Given the description of an element on the screen output the (x, y) to click on. 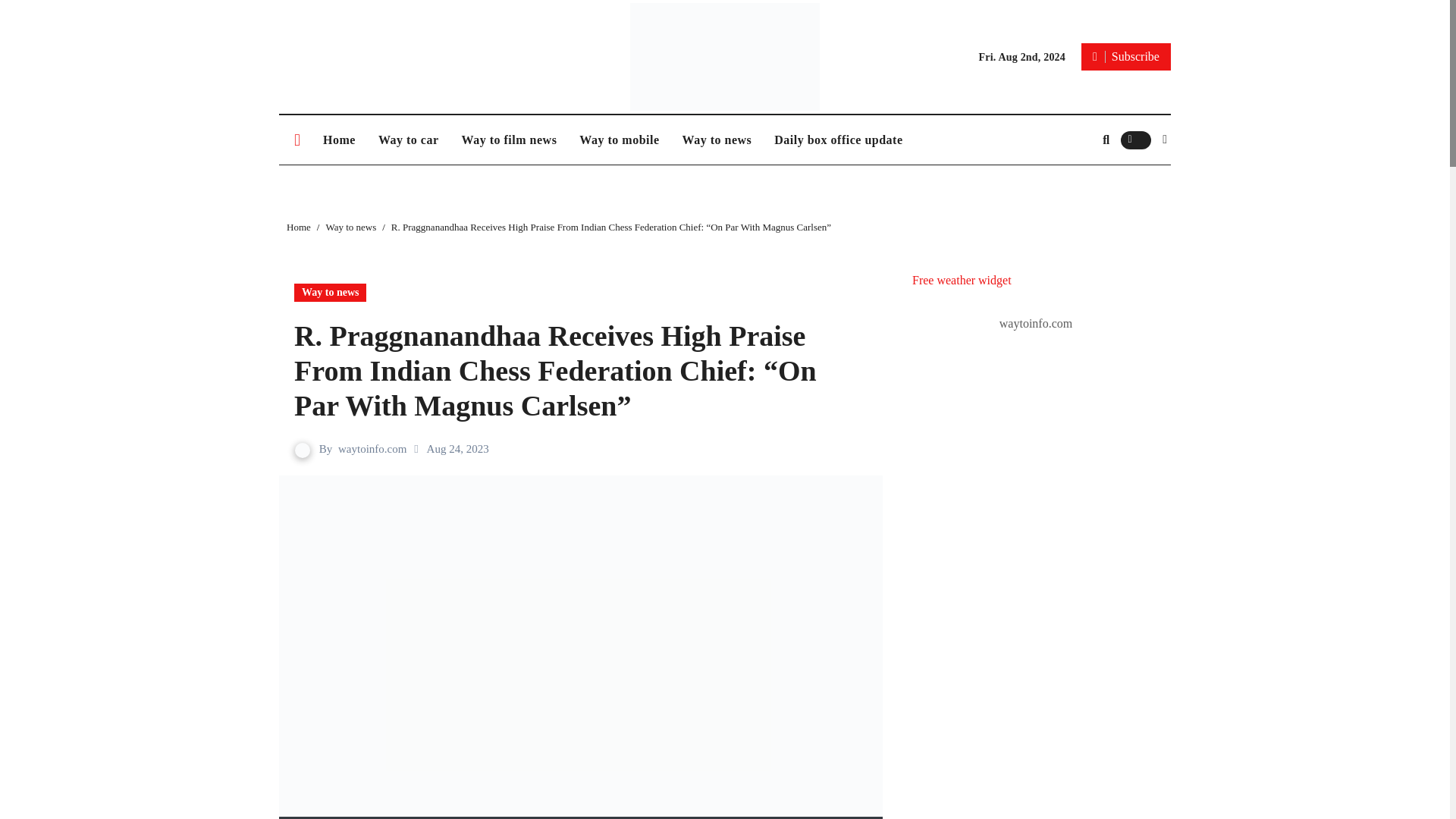
Daily box office update (838, 139)
Way to news (330, 292)
Subscribe (1125, 56)
Way to mobile (618, 139)
Way to film news (509, 139)
Home (338, 139)
Way to car (407, 139)
Way to news (716, 139)
Way to mobile (618, 139)
Way to news (716, 139)
Home (298, 226)
waytoinfo.com (371, 449)
Way to news (349, 226)
Way to car (407, 139)
Home (338, 139)
